Given the description of an element on the screen output the (x, y) to click on. 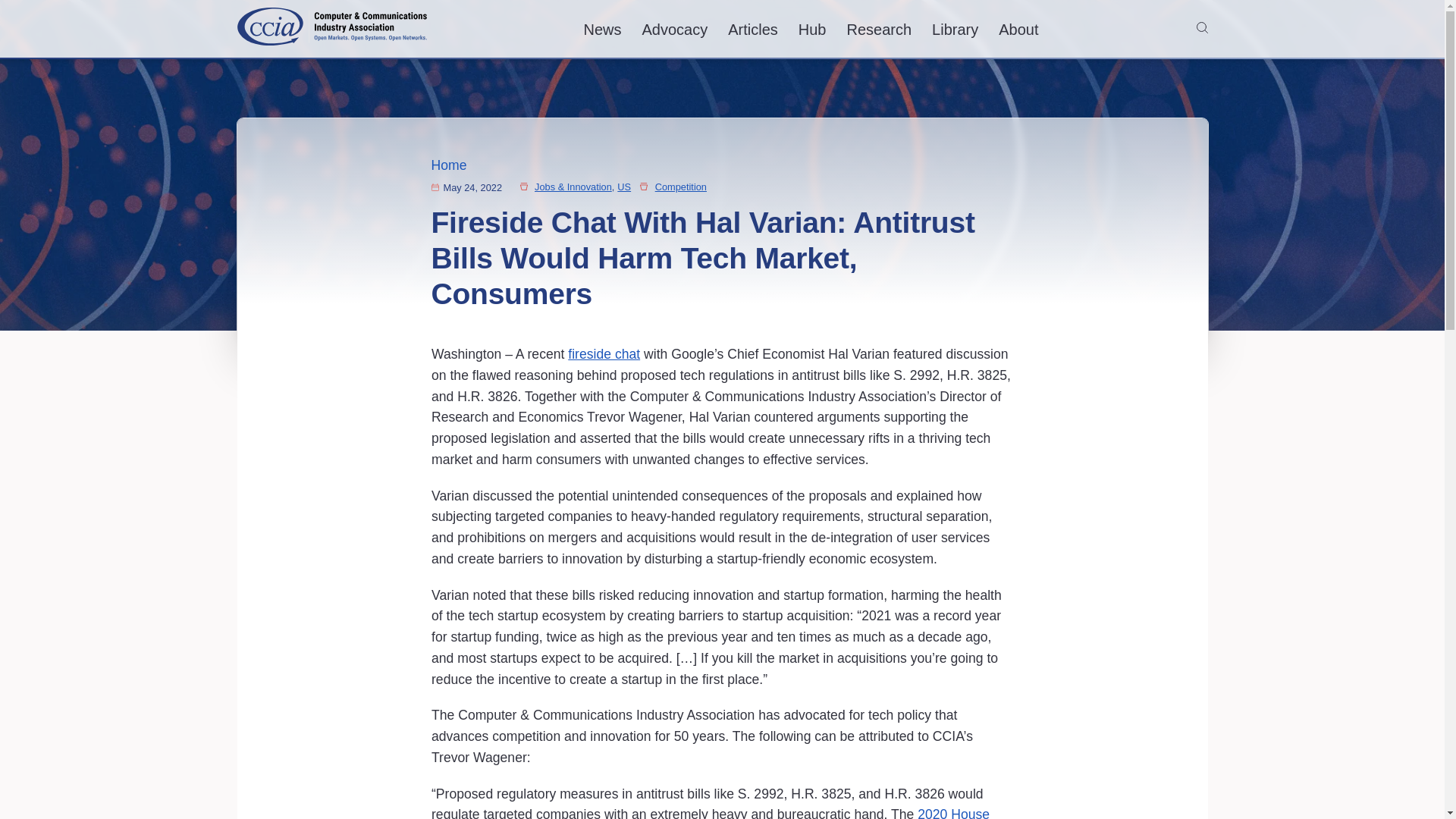
Hub (812, 29)
News (601, 29)
Articles (752, 29)
Published (434, 186)
Advocacy (675, 29)
About (1018, 29)
Research (879, 29)
Library (954, 29)
